Given the description of an element on the screen output the (x, y) to click on. 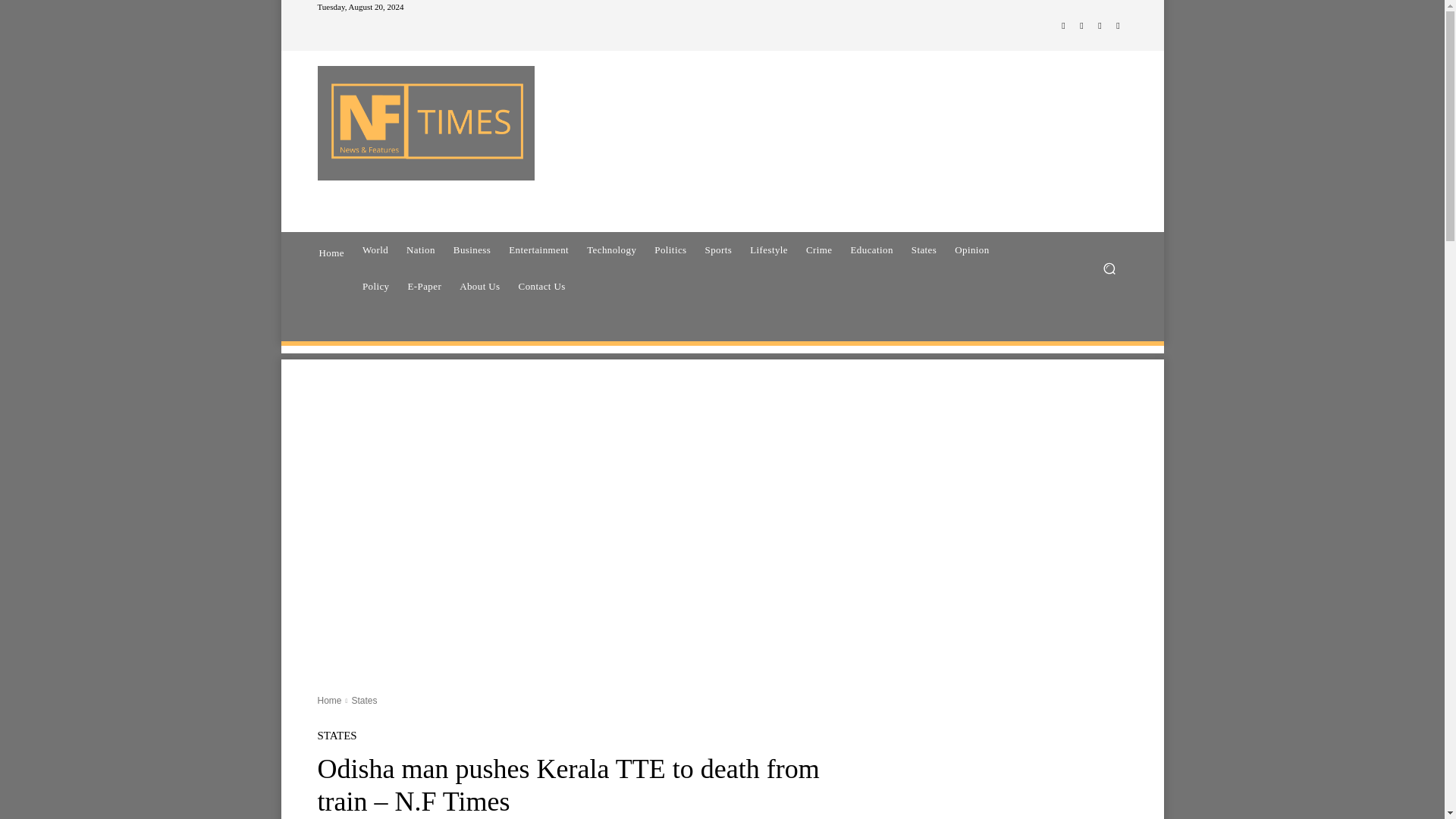
Home (330, 251)
Technology (611, 249)
Instagram (1080, 25)
Politics (670, 249)
Lifestyle (768, 249)
Crime (818, 249)
Education (871, 249)
Policy (375, 286)
View all posts in States (363, 700)
